Given the description of an element on the screen output the (x, y) to click on. 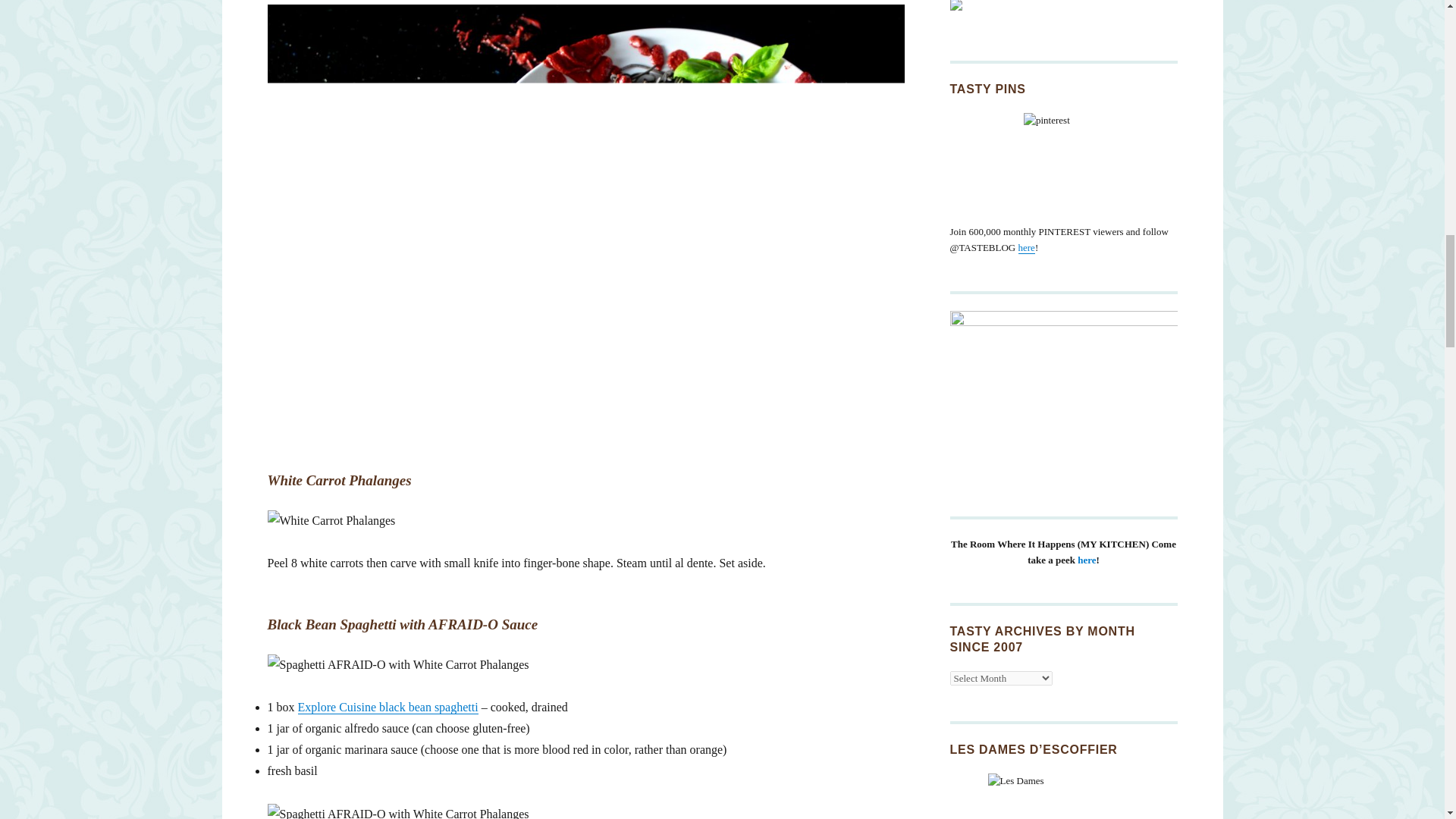
Food Advertising (1062, 5)
Explore Cuisine black bean spaghetti (387, 707)
